Given the description of an element on the screen output the (x, y) to click on. 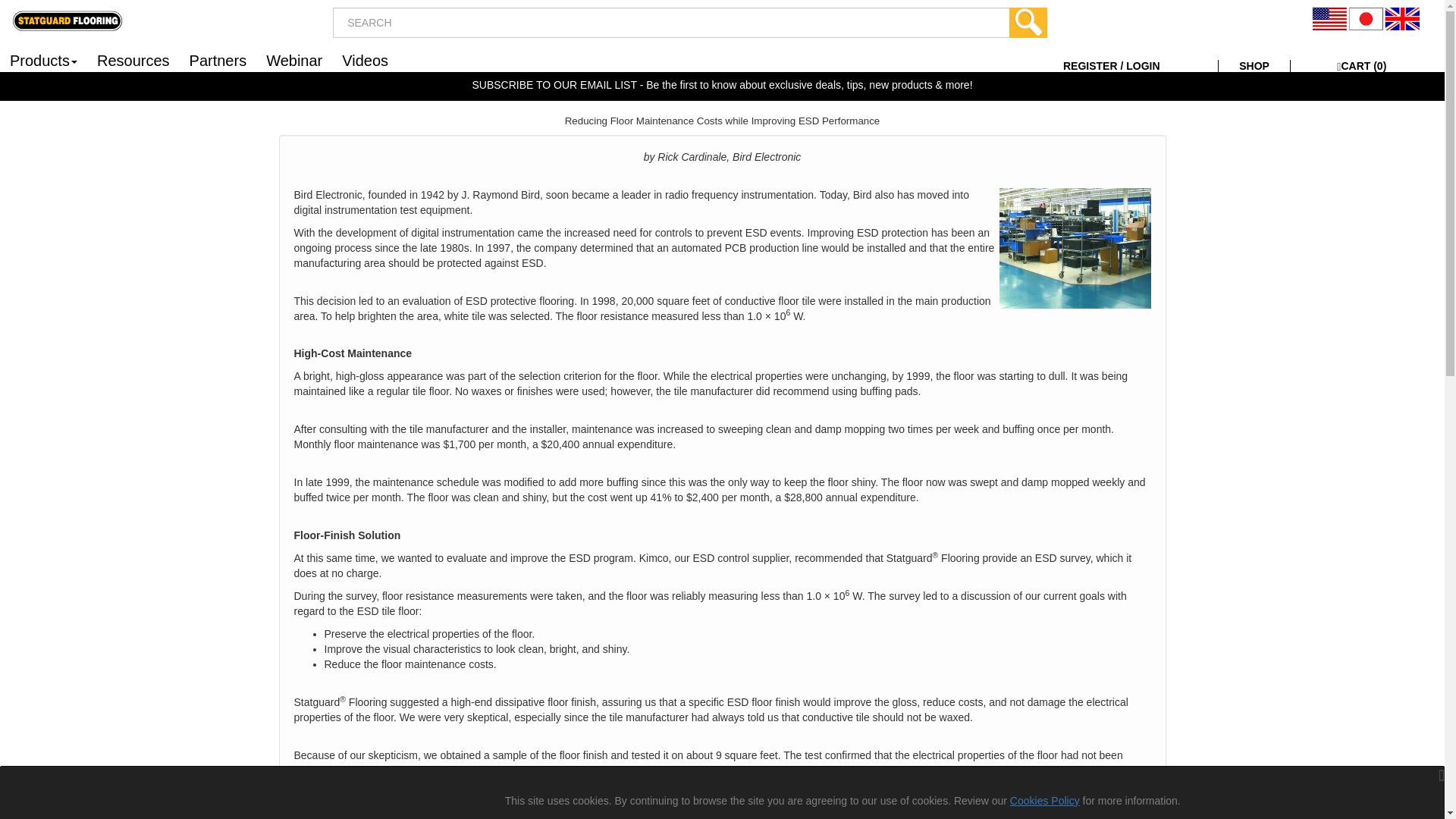
SGF Logo - Click here to return to home page (66, 20)
Click to Search (1027, 22)
SHOP (1254, 65)
Partners (218, 59)
Resources (133, 59)
Webinar (293, 59)
Products (43, 59)
Videos (364, 59)
